Given the description of an element on the screen output the (x, y) to click on. 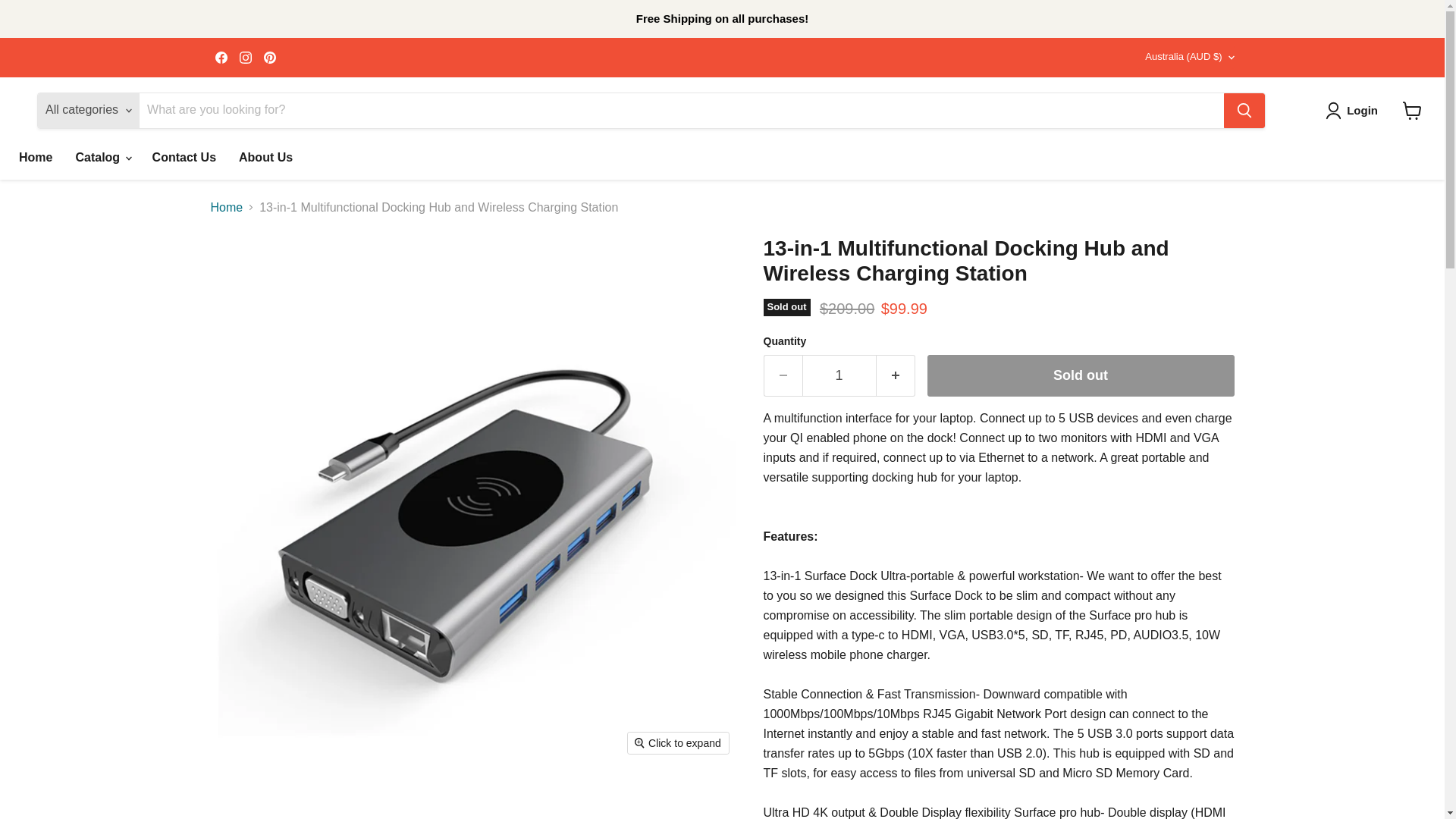
Find us on Instagram (245, 56)
Login (1354, 110)
Find us on Facebook (221, 56)
Pinterest (270, 56)
Instagram (245, 56)
Find us on Pinterest (270, 56)
View cart (1411, 110)
Home (35, 156)
1 (839, 375)
Facebook (221, 56)
